Given the description of an element on the screen output the (x, y) to click on. 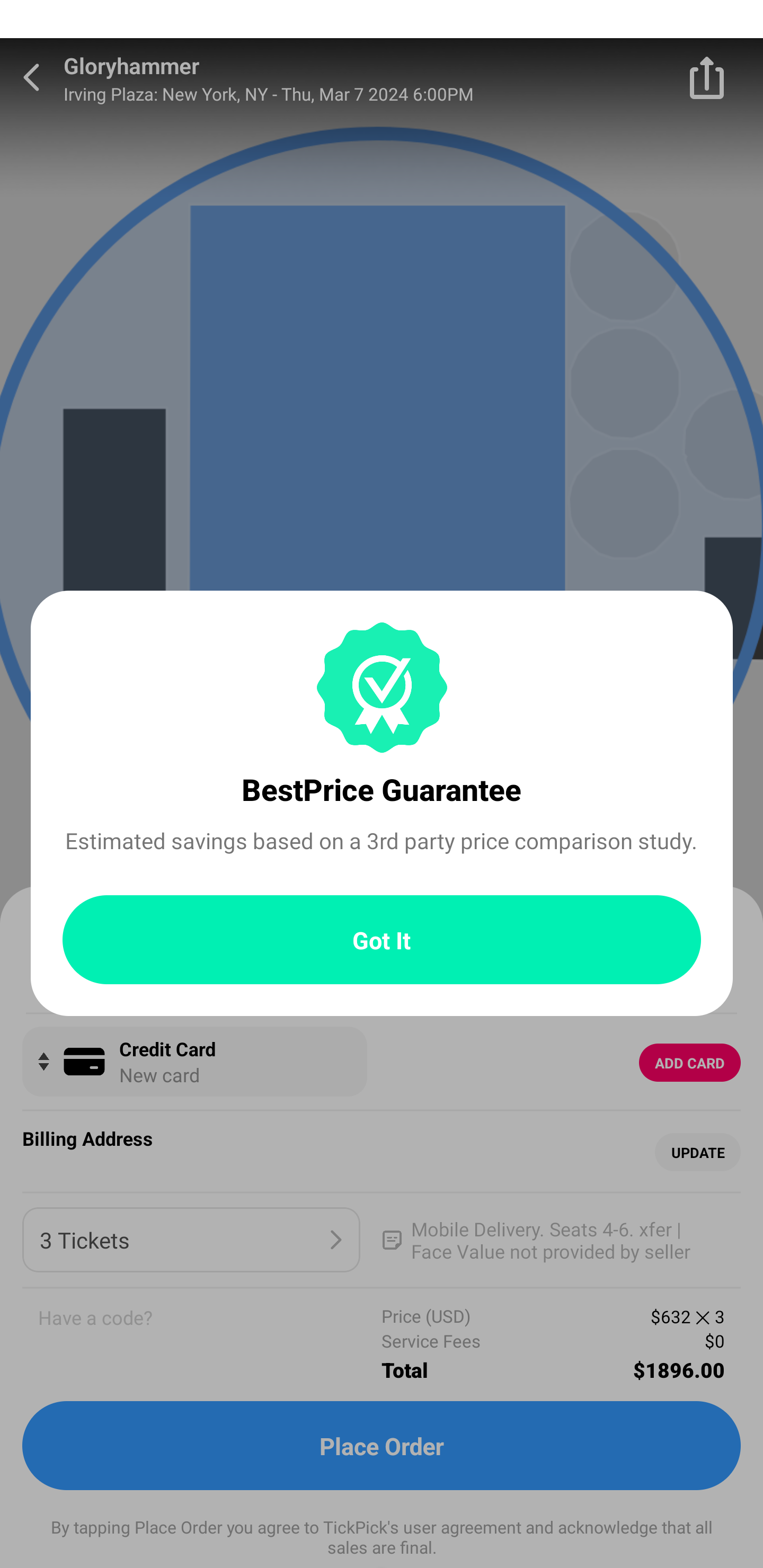
Got It (381, 939)
